Given the description of an element on the screen output the (x, y) to click on. 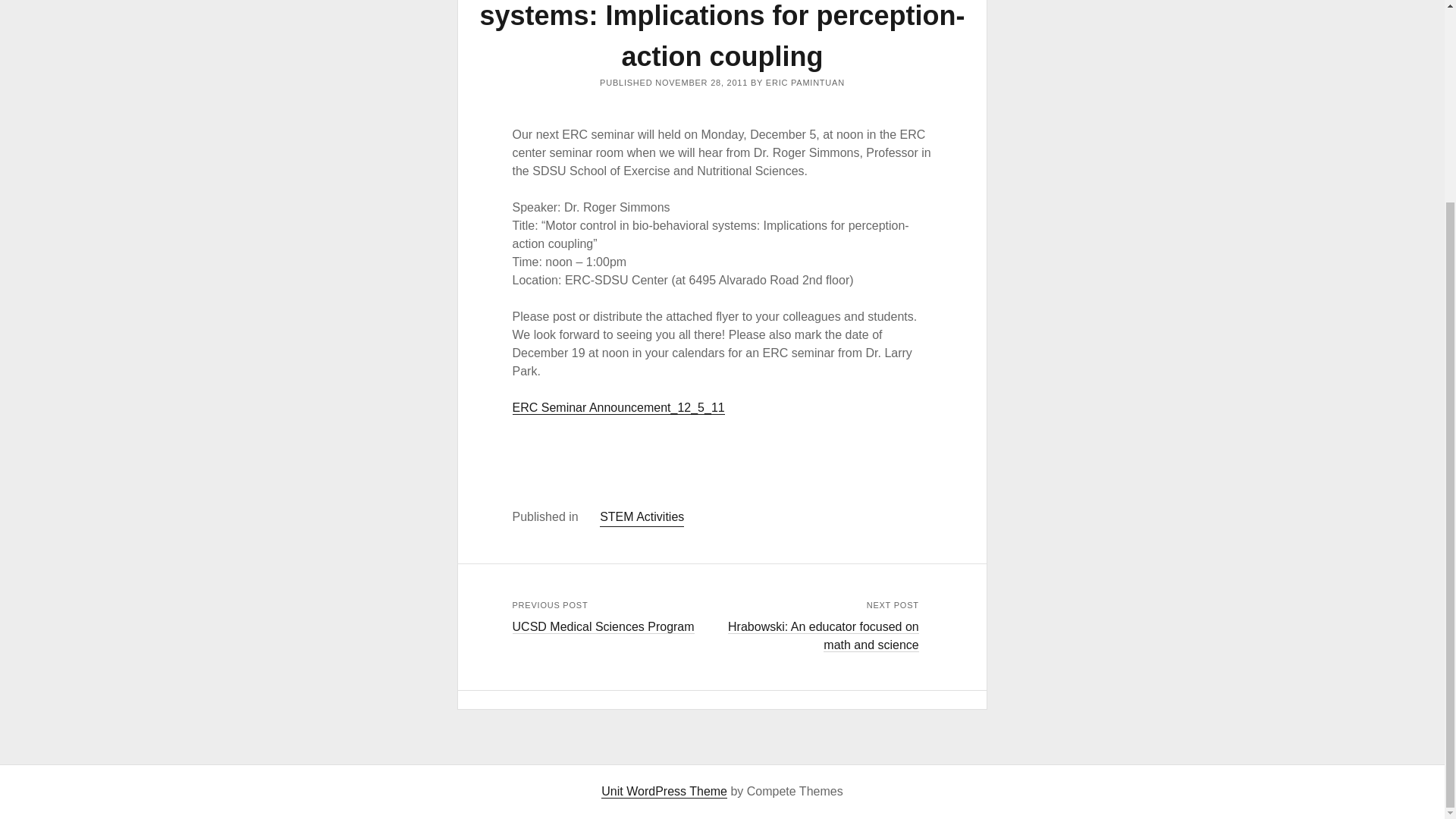
UCSD Medical Sciences Program (603, 626)
Hrabowski: An educator focused on math and science (823, 635)
View all posts in STEM Activities (641, 517)
Unit WordPress Theme (663, 791)
STEM Activities (641, 517)
